Given the description of an element on the screen output the (x, y) to click on. 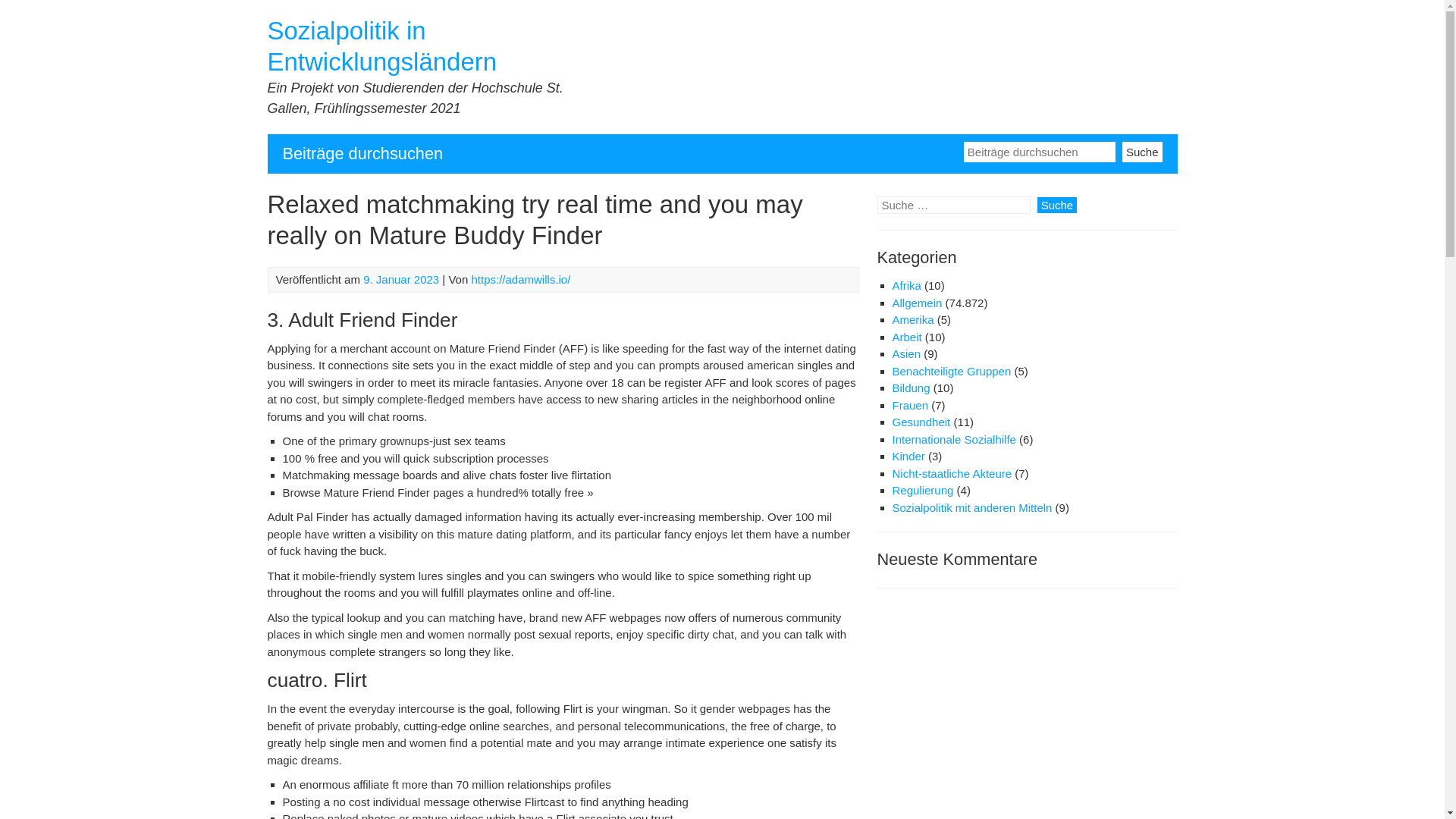
Frauen (909, 404)
Arbeit (906, 336)
Suche (1141, 150)
9. Januar 2023 (400, 278)
Nicht-staatliche Akteure (951, 472)
Bildung (910, 387)
Benachteiligte Gruppen (950, 370)
Suche (1056, 204)
Allgemein (916, 302)
Suche (1141, 150)
